Given the description of an element on the screen output the (x, y) to click on. 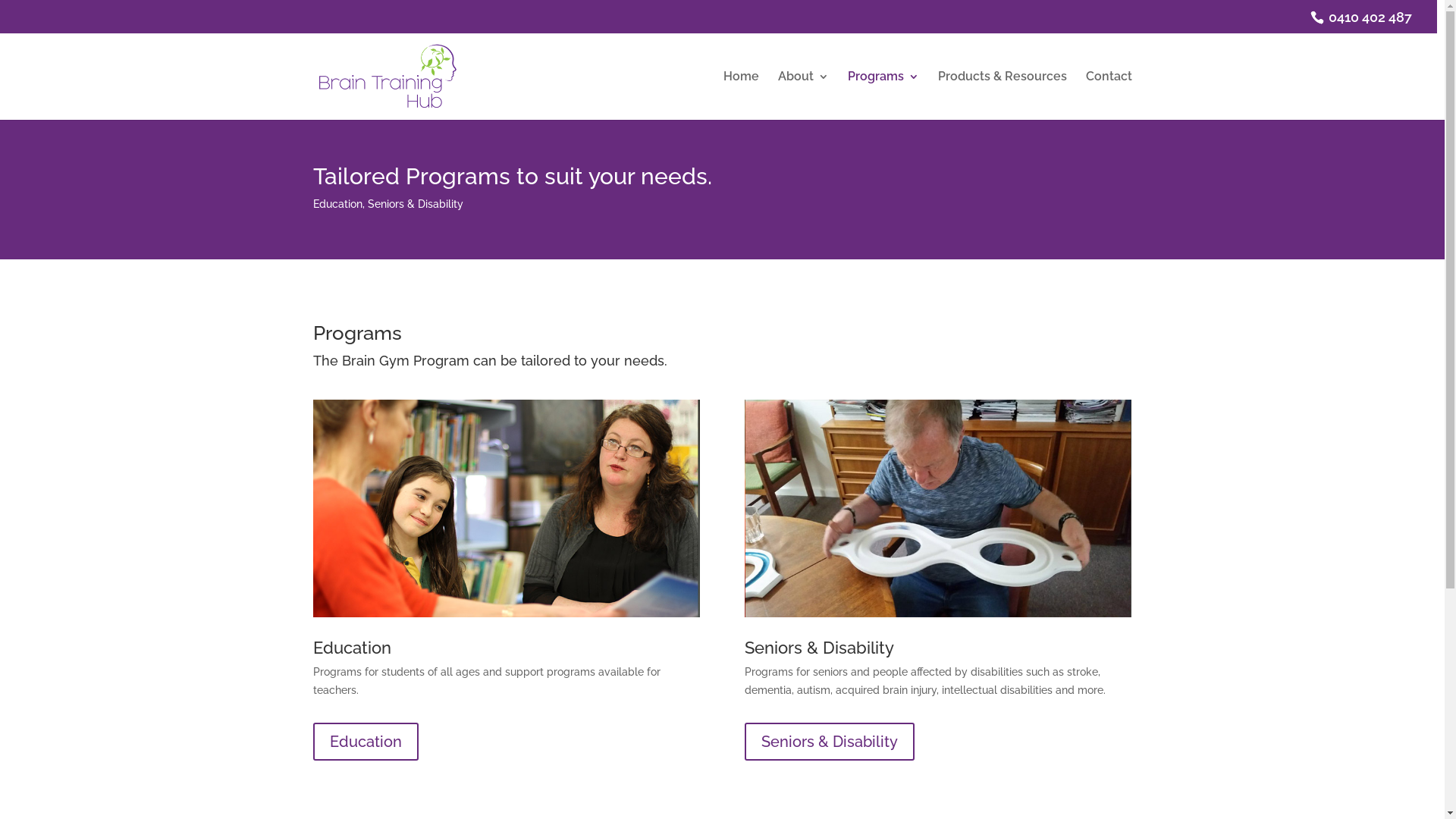
Programs Element type: text (883, 95)
Home Element type: text (741, 95)
About Element type: text (803, 95)
0410 402 487 Element type: text (1365, 17)
Education Element type: text (364, 741)
Contact Element type: text (1108, 95)
Seniors & Disability Element type: text (829, 741)
Products & Resources Element type: text (1001, 95)
